Given the description of an element on the screen output the (x, y) to click on. 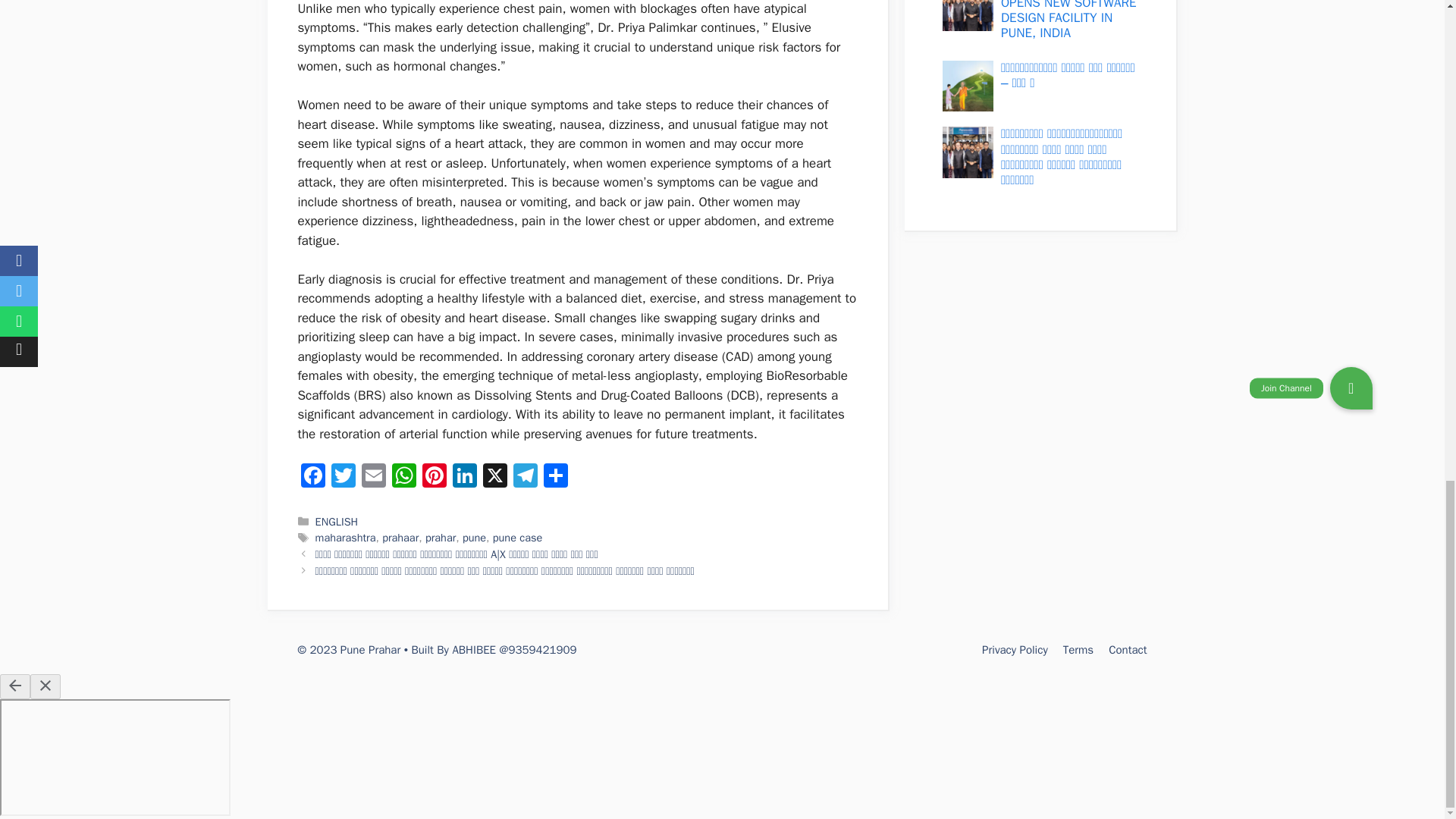
WhatsApp (403, 477)
Email (373, 477)
Pinterest (433, 477)
Email (373, 477)
Facebook (312, 477)
pune case (517, 537)
pune (474, 537)
prahar (440, 537)
Facebook (312, 477)
LinkedIn (463, 477)
Twitter (342, 477)
prahaar (400, 537)
X (494, 477)
Telegram (524, 477)
